Given the description of an element on the screen output the (x, y) to click on. 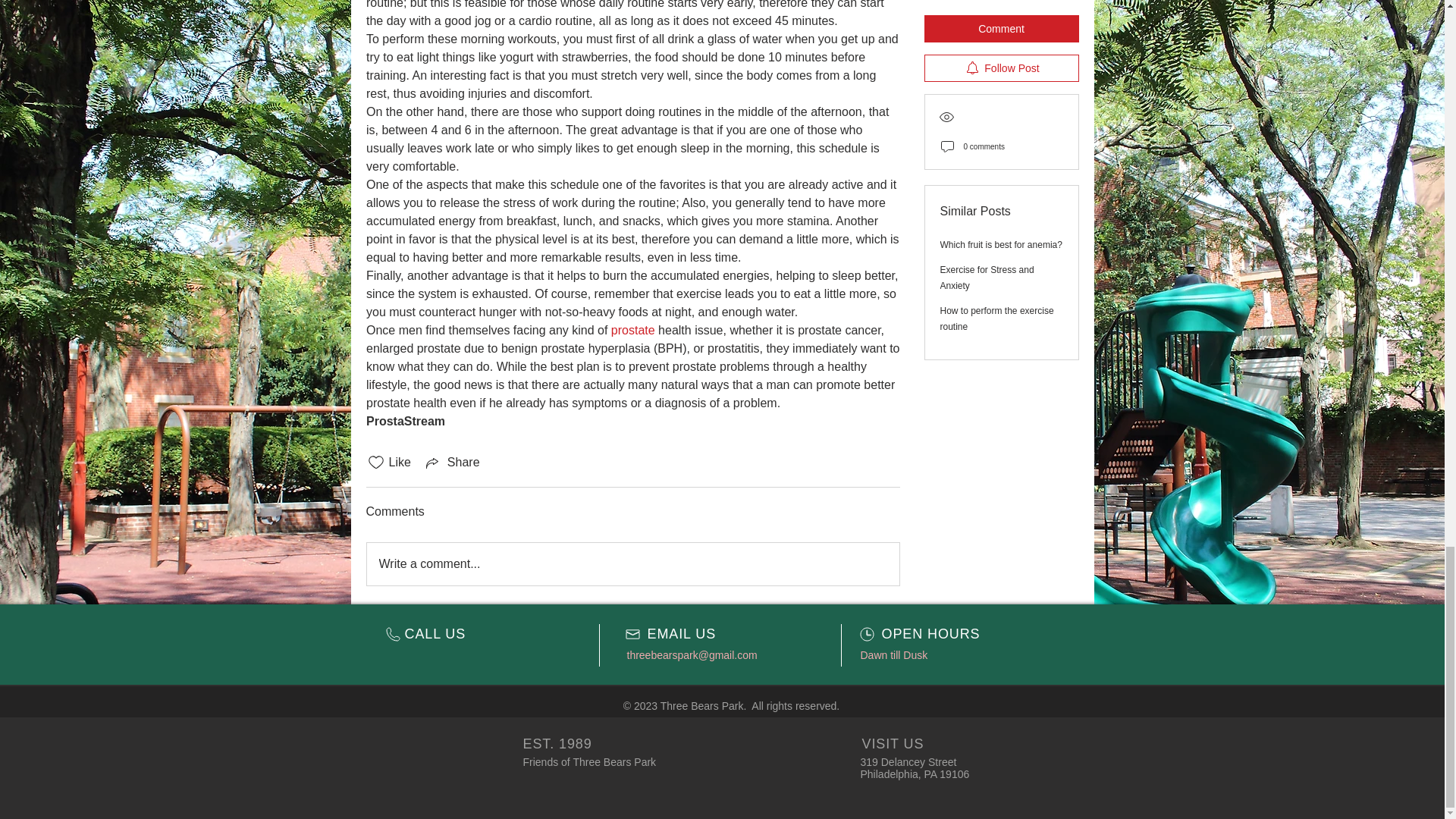
ProstaStream (404, 420)
Write a comment... (632, 563)
Share (451, 462)
prostate (631, 329)
